Given the description of an element on the screen output the (x, y) to click on. 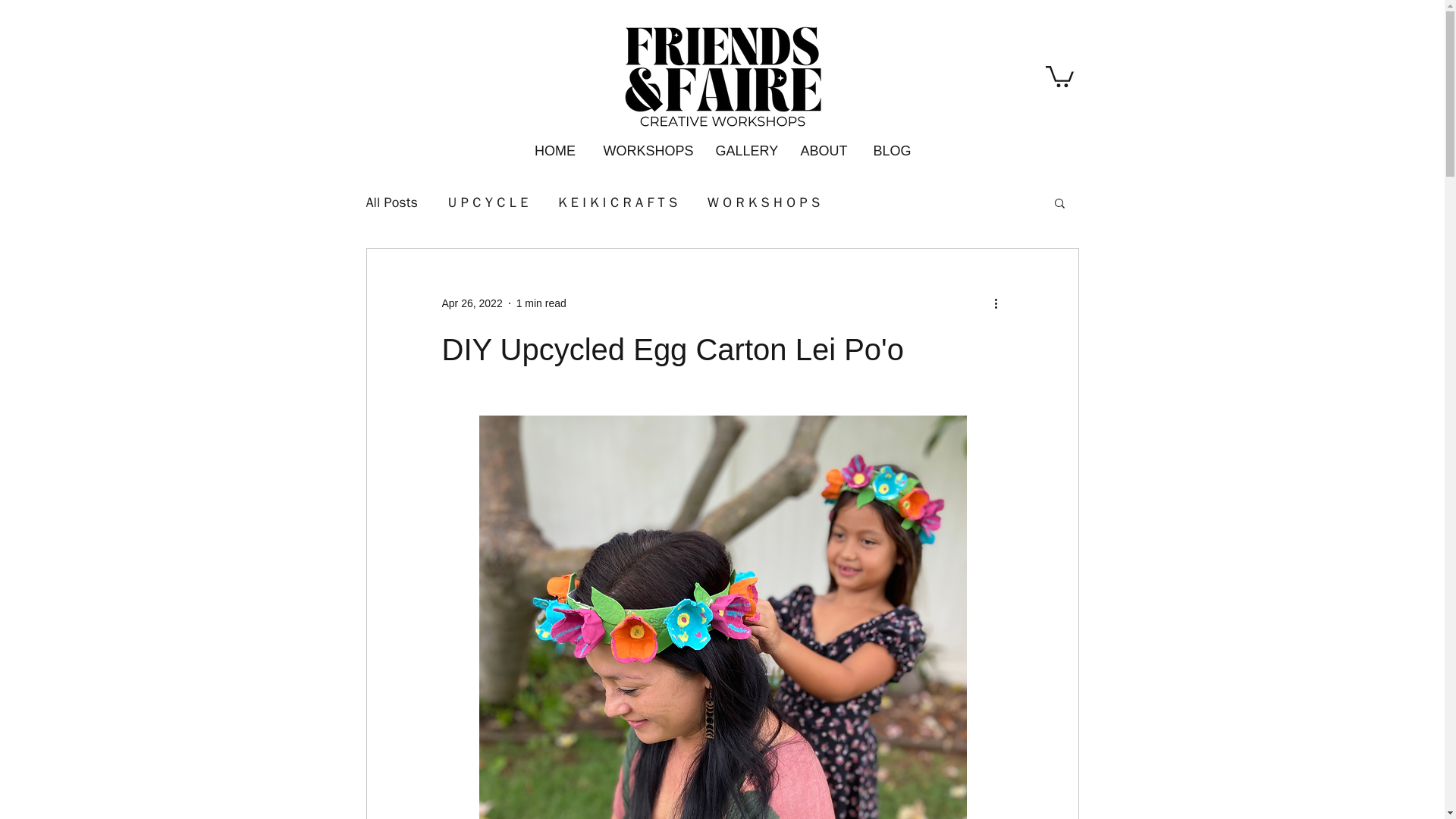
Apr 26, 2022 (471, 303)
GALLERY (744, 143)
U P C Y C L E (487, 202)
BLOG (892, 143)
W O R K S H O P S (763, 202)
K E I K I C R A F T S (617, 202)
HOME (554, 143)
1 min read (541, 303)
All Posts (390, 202)
